Given the description of an element on the screen output the (x, y) to click on. 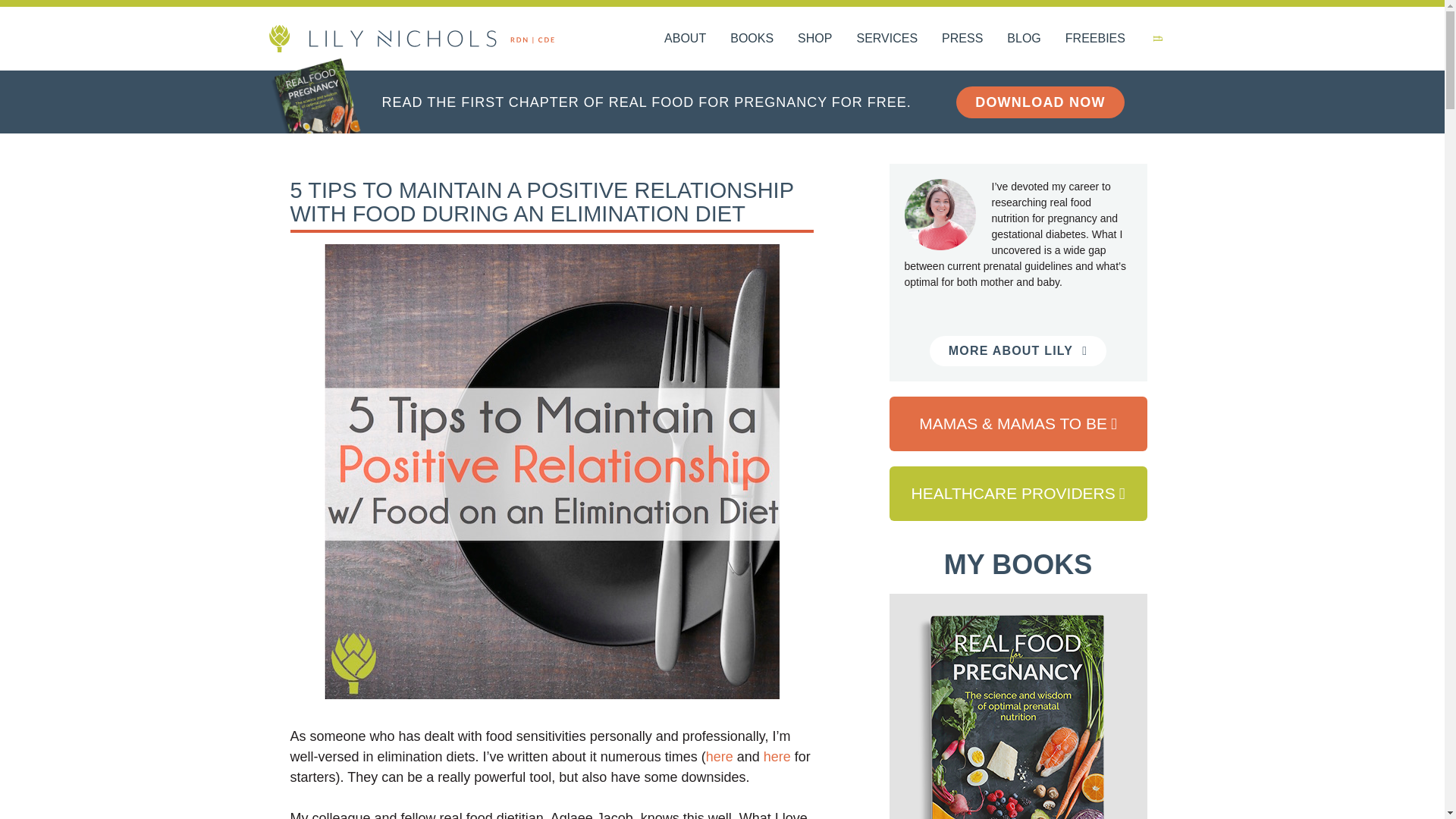
ABOUT (684, 38)
here (776, 756)
BLOG (1023, 38)
SERVICES (887, 38)
PRESS (962, 38)
DOWNLOAD NOW (1040, 101)
Lily Nichols RDN (410, 38)
FREEBIES (1094, 38)
BOOKS (751, 38)
SHOP (815, 38)
